Given the description of an element on the screen output the (x, y) to click on. 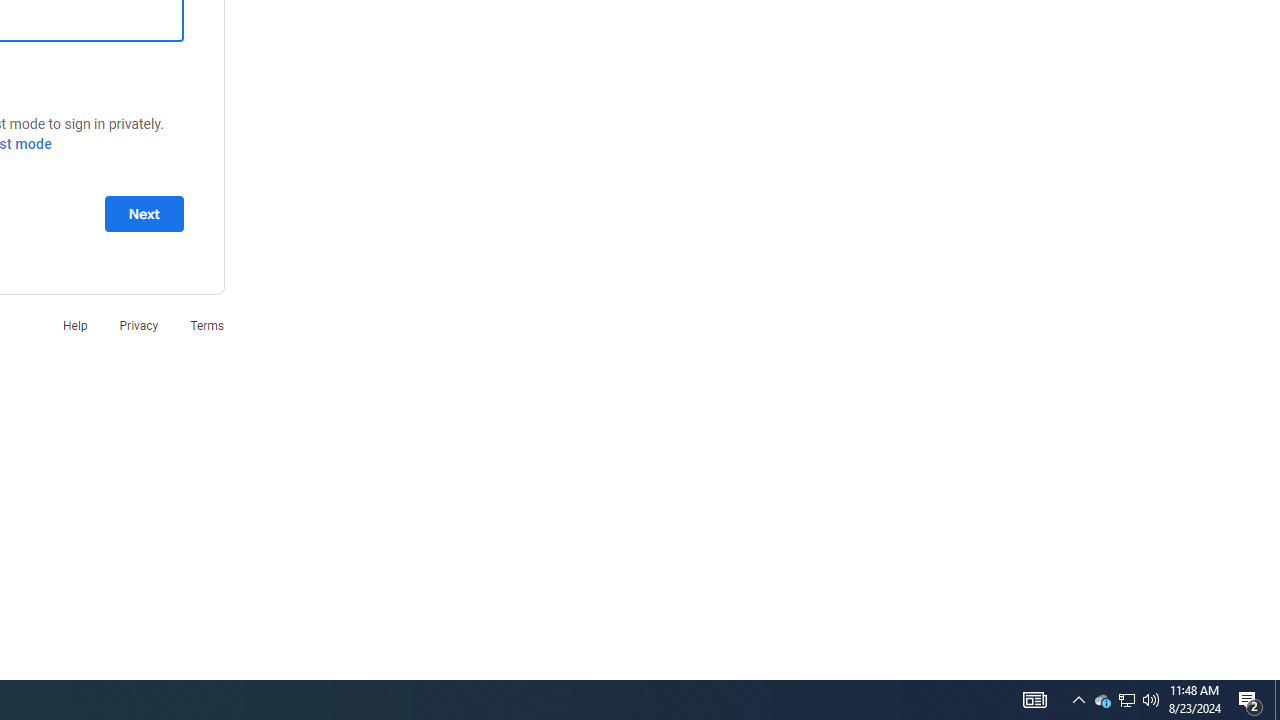
Next (143, 213)
